Given the description of an element on the screen output the (x, y) to click on. 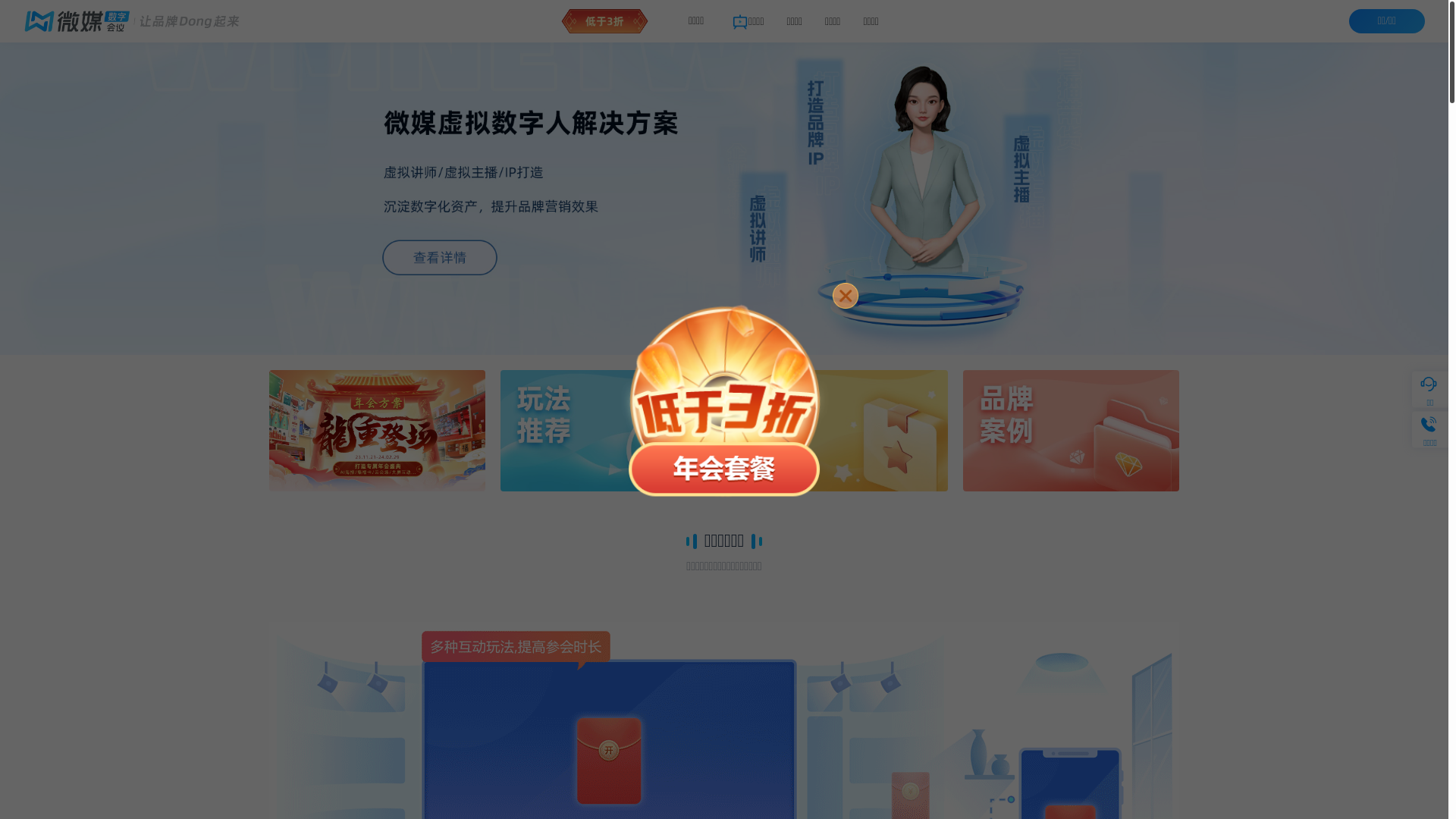
  Element type: hover (608, 430)
  Element type: hover (1071, 430)
